Given the description of an element on the screen output the (x, y) to click on. 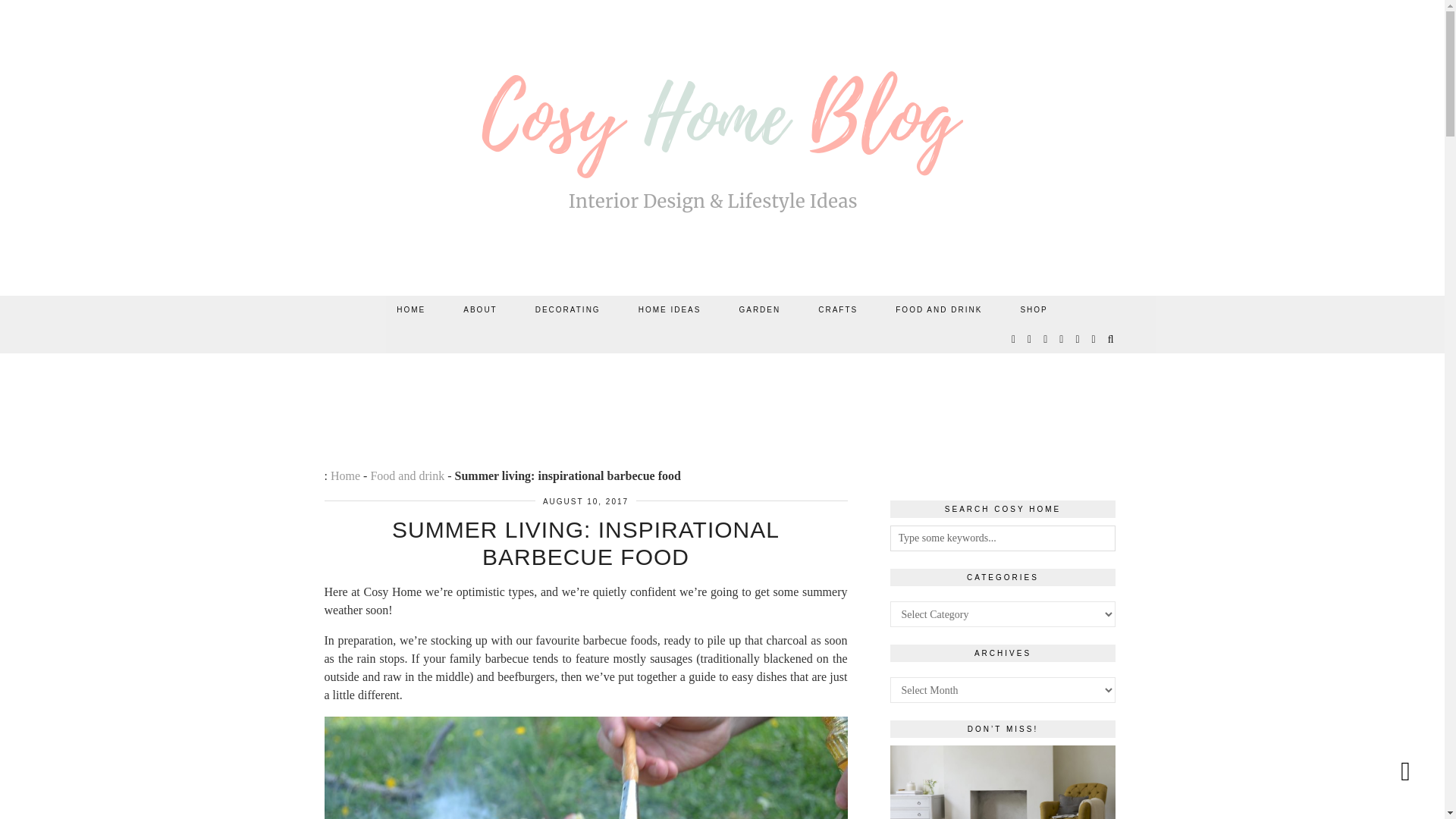
SHOP (1033, 309)
HOME (410, 309)
Home (344, 475)
HOME IDEAS (670, 309)
ABOUT (479, 309)
Food and drink (406, 475)
GARDEN (759, 309)
FOOD AND DRINK (938, 309)
DECORATING (568, 309)
CRAFTS (837, 309)
